Given the description of an element on the screen output the (x, y) to click on. 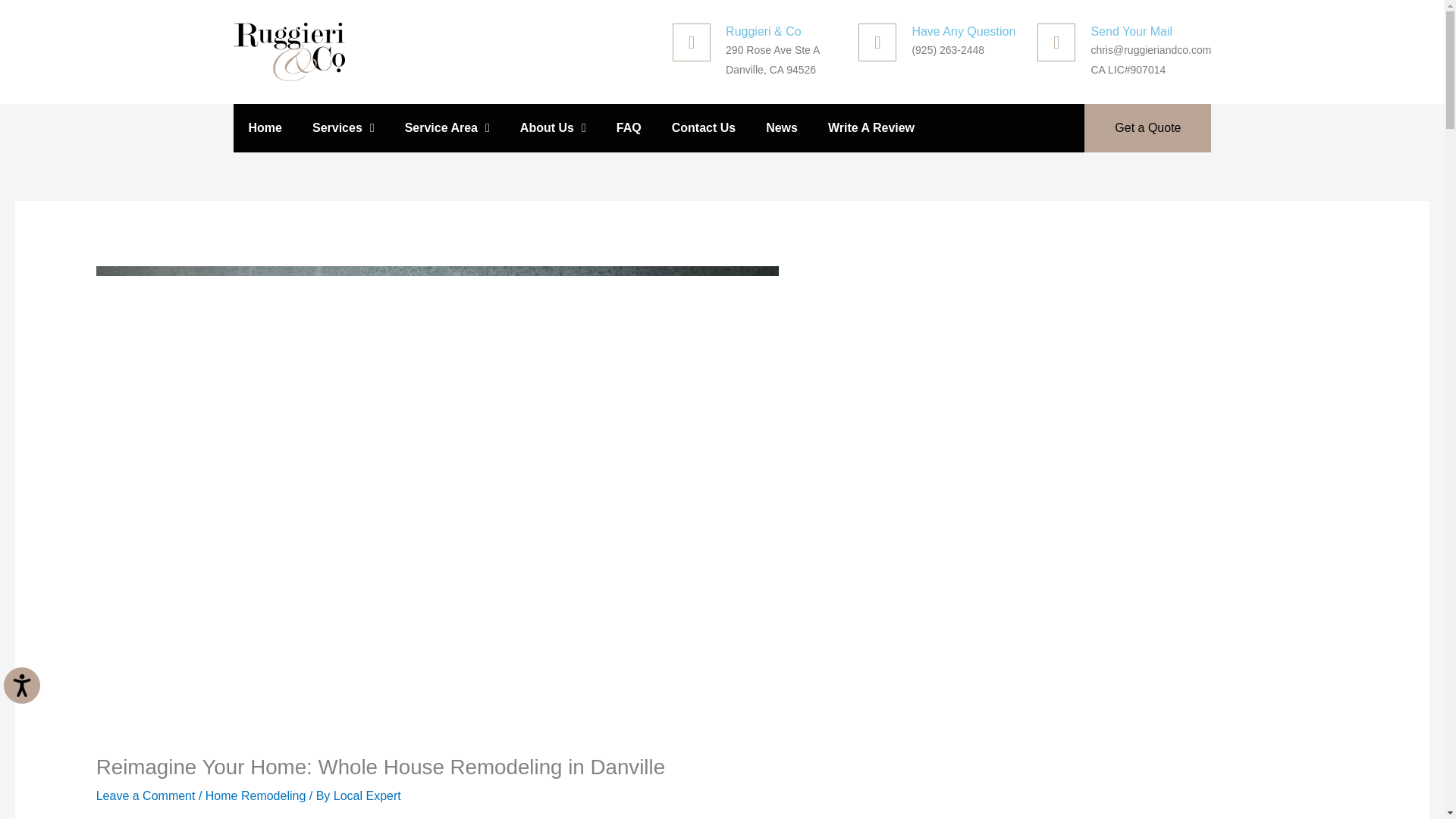
View all posts by Local Expert (367, 795)
Service Area (447, 127)
Have Any Question (962, 31)
Send Your Mail (1131, 31)
Home (264, 127)
Services (343, 127)
Accessibility (34, 697)
